Given the description of an element on the screen output the (x, y) to click on. 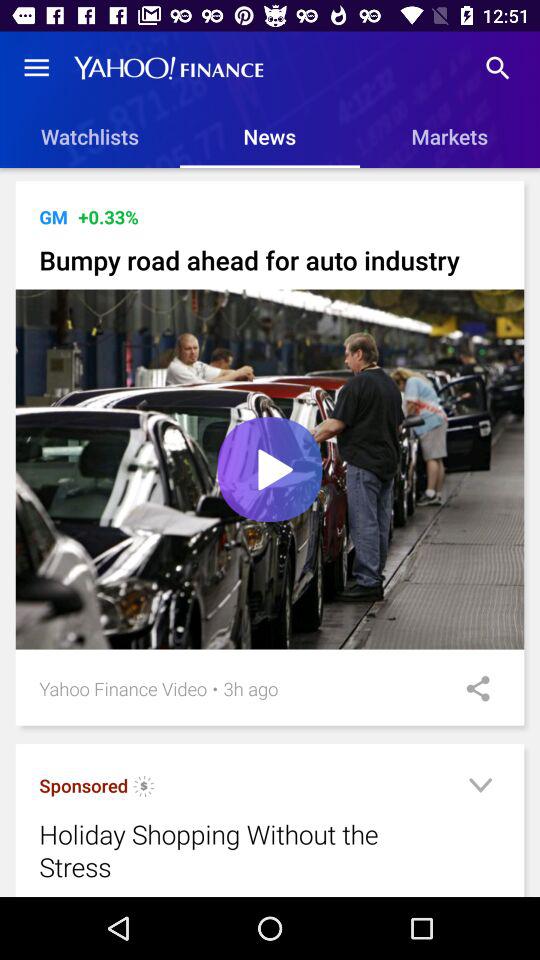
select the item above the holiday shopping without icon (143, 788)
